Given the description of an element on the screen output the (x, y) to click on. 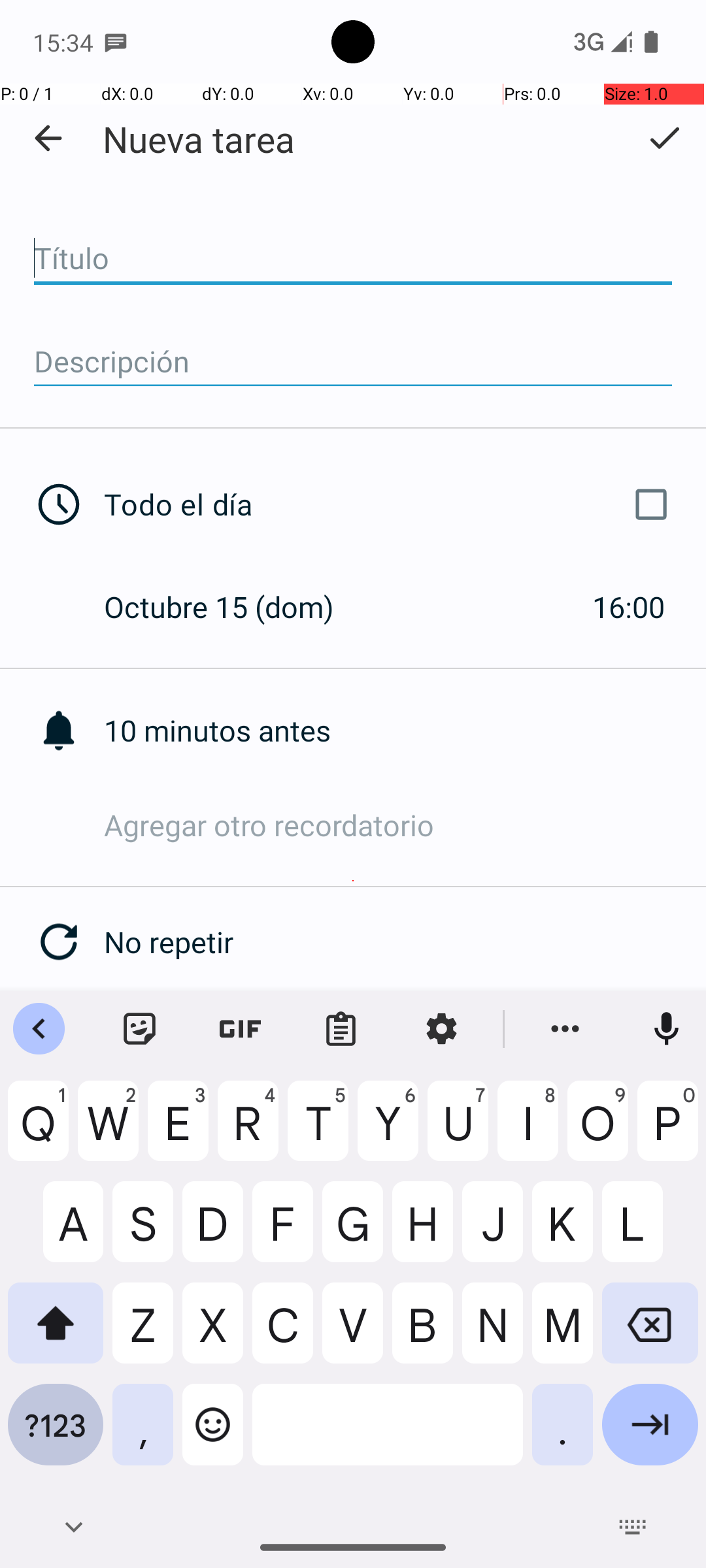
Nueva tarea Element type: android.widget.TextView (198, 138)
Título Element type: android.widget.EditText (352, 258)
Descripción Element type: android.widget.EditText (352, 361)
10 minutos antes Element type: android.widget.TextView (404, 729)
Agregar otro recordatorio Element type: android.widget.TextView (404, 824)
No repetir Element type: android.widget.TextView (404, 941)
